Given the description of an element on the screen output the (x, y) to click on. 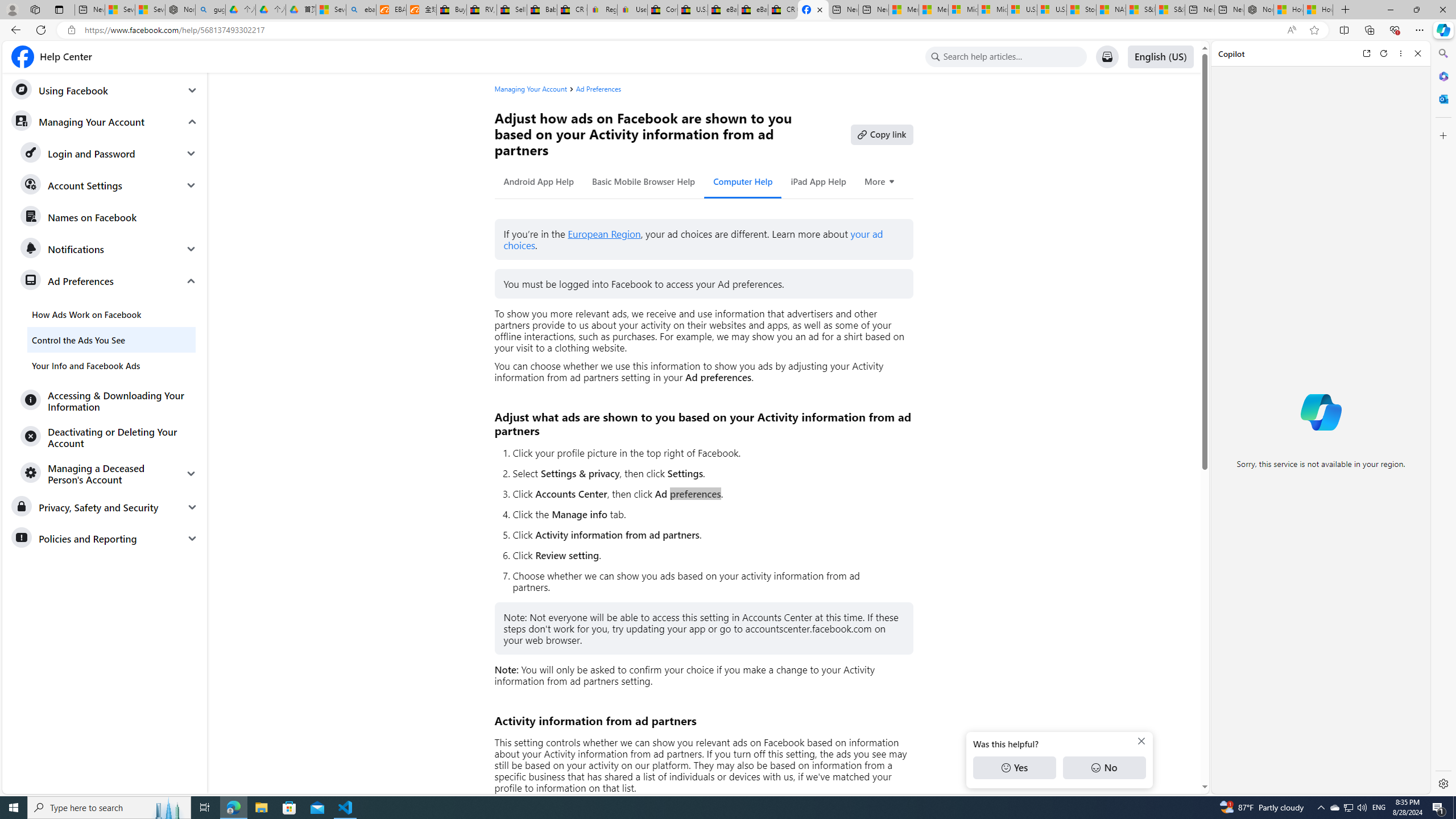
Outlook (1442, 98)
No (1103, 767)
Sell worldwide with eBay (511, 9)
Control the Ads You See (111, 339)
Login and Password Expand (109, 153)
Change Language: English (US) (1159, 56)
RV, Trailer & Camper Steps & Ladders for sale | eBay (481, 9)
Deactivating or Deleting Your Account (108, 436)
Account Settings Expand (109, 185)
